Given the description of an element on the screen output the (x, y) to click on. 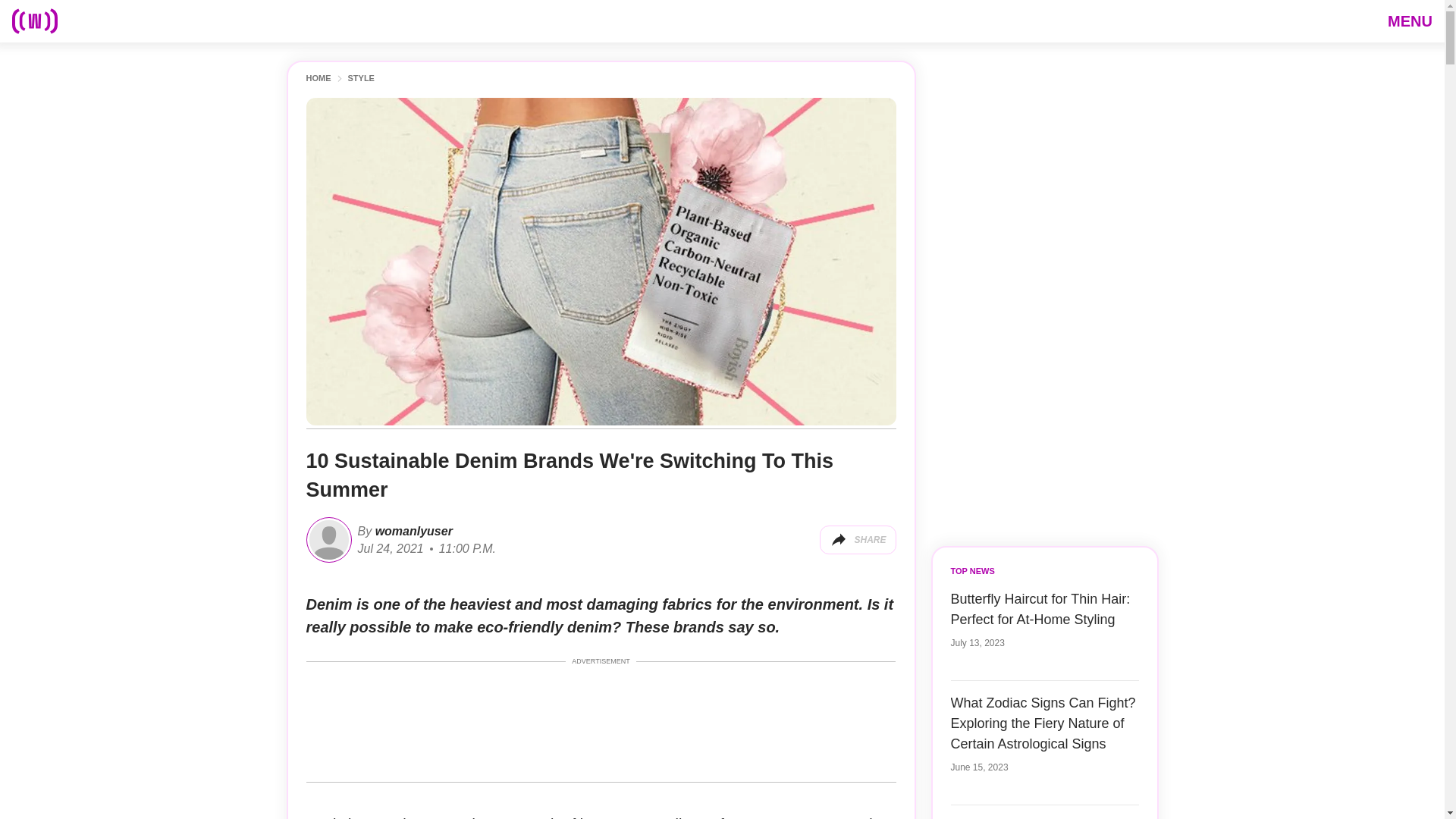
HOME (318, 78)
SHARE (857, 539)
MENU (1409, 20)
STYLE (360, 78)
womanlyuser (411, 530)
